Given the description of an element on the screen output the (x, y) to click on. 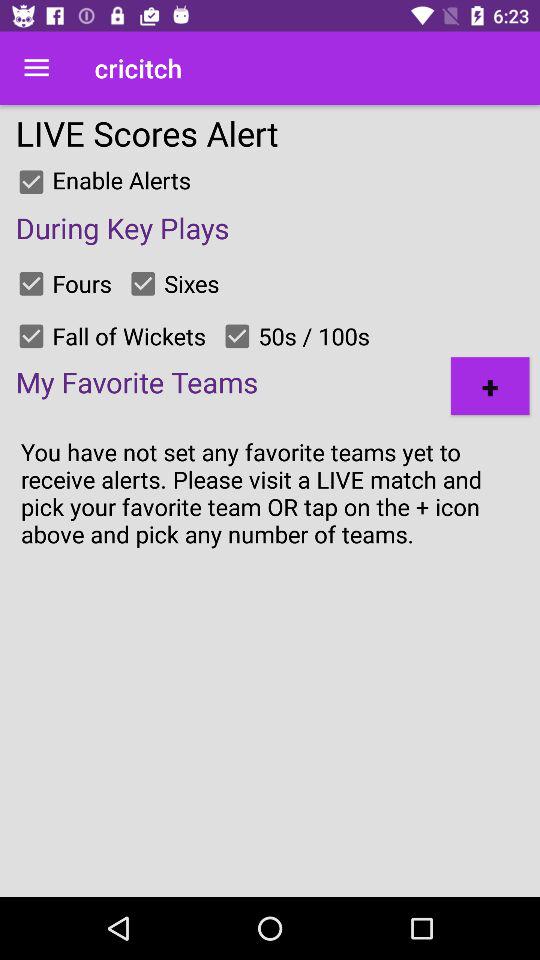
launch the item below the during key plays (489, 386)
